Given the description of an element on the screen output the (x, y) to click on. 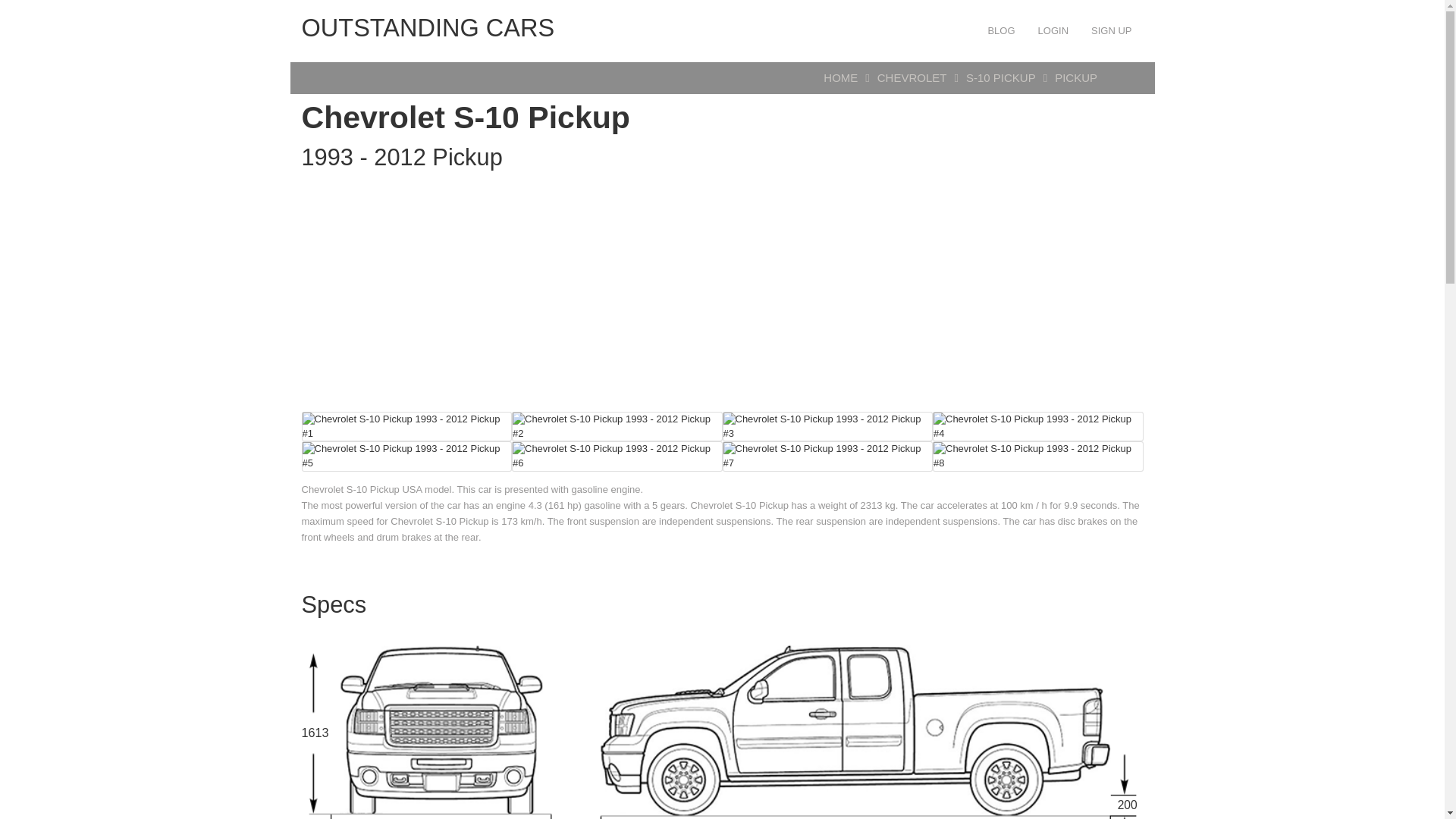
HOME (840, 77)
S-10 PICKUP (1000, 77)
CHEVROLET (912, 77)
SIGN UP (1111, 30)
LOGIN (1053, 30)
Chevrolet S-10. price, modifications, pictures. MoiBibiki (1037, 426)
Chevrolet S-10 - Wikipedia (1037, 456)
OUTSTANDING CARS (427, 28)
BLOG (1000, 30)
OUTSTANDING CARS (427, 28)
